Given the description of an element on the screen output the (x, y) to click on. 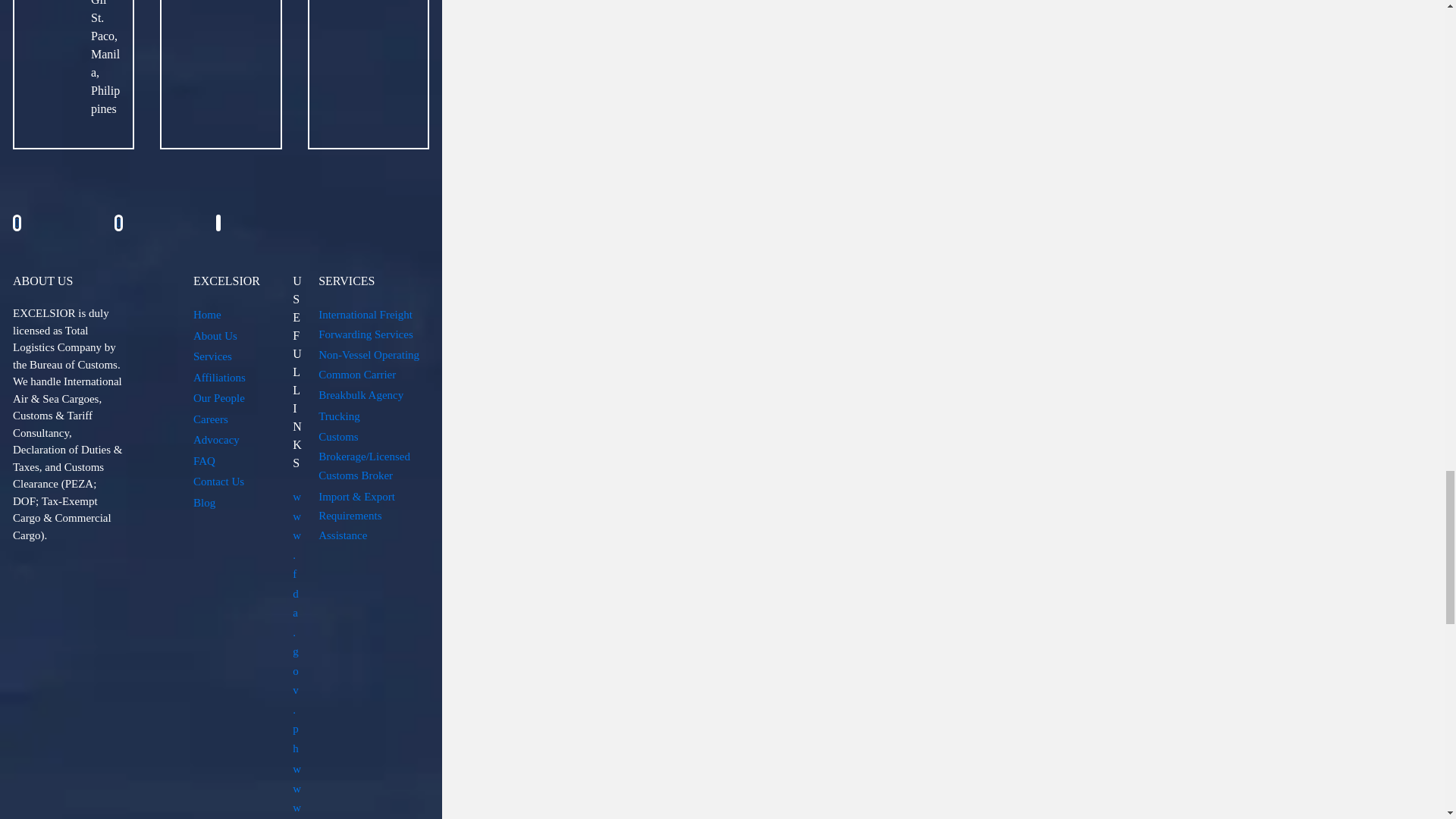
Home (207, 314)
Services (212, 356)
Affiliations (219, 377)
About Us (215, 336)
